Given the description of an element on the screen output the (x, y) to click on. 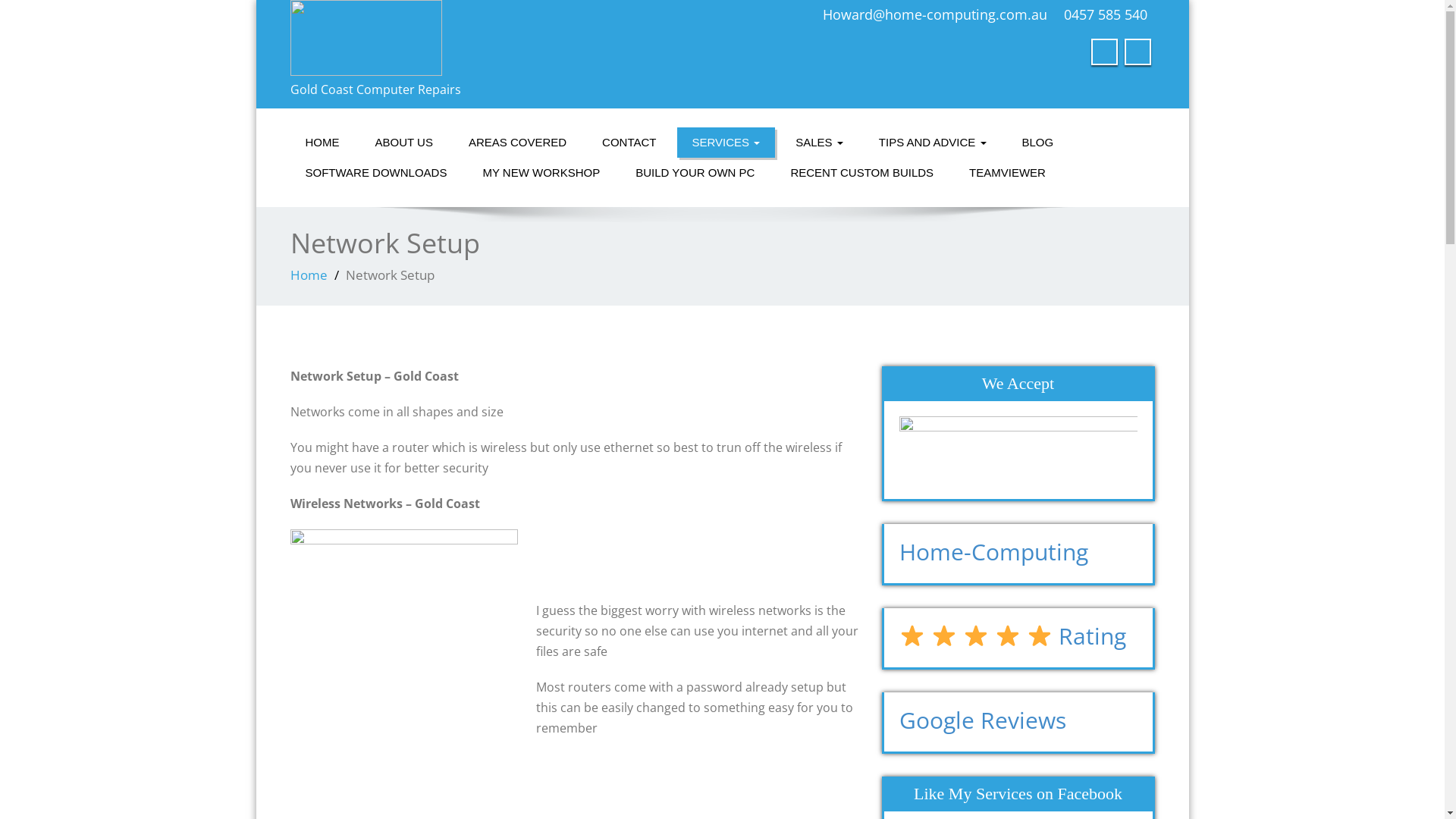
SOFTWARE DOWNLOADS Element type: text (375, 172)
MY NEW WORKSHOP Element type: text (541, 172)
HOME Element type: text (321, 142)
Home-Computing Element type: text (993, 551)
Rating Element type: text (1012, 635)
Home Element type: text (307, 274)
BUILD YOUR OWN PC Element type: text (694, 172)
TIPS AND ADVICE Element type: text (932, 142)
BLOG Element type: text (1038, 142)
TEAMVIEWER Element type: text (1006, 172)
ABOUT US Element type: text (403, 142)
SERVICES Element type: text (725, 142)
Home Computing Element type: hover (499, 37)
Googleplus Element type: hover (1136, 51)
CONTACT Element type: text (628, 142)
Google Reviews Element type: text (982, 719)
RECENT CUSTOM BUILDS Element type: text (861, 172)
0457 585 540 Element type: text (1104, 14)
SALES Element type: text (819, 142)
Howard@home-computing.com.au Element type: text (934, 14)
AREAS COVERED Element type: text (517, 142)
Facebook Element type: hover (1103, 51)
